Given the description of an element on the screen output the (x, y) to click on. 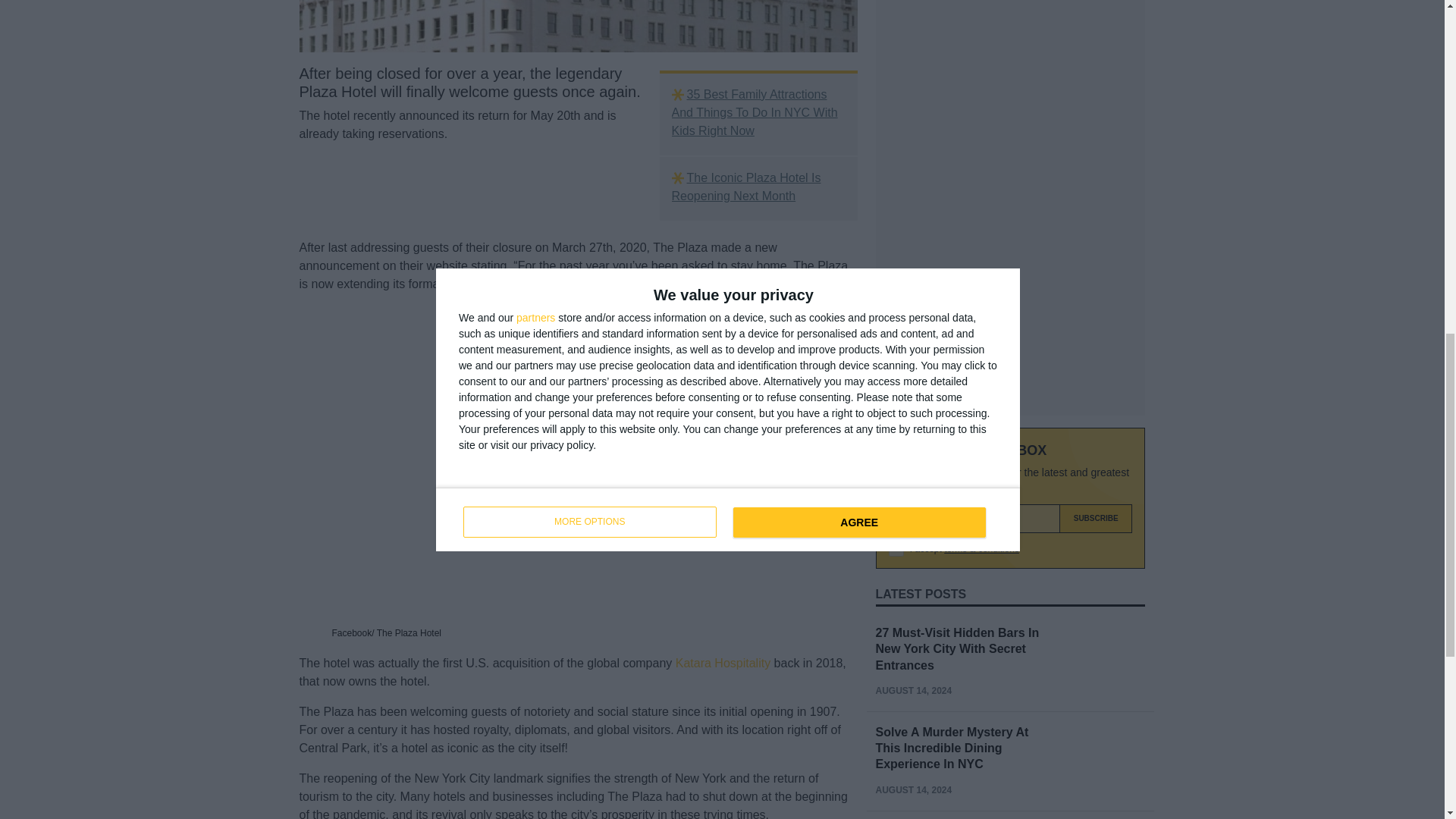
Katara Hospitality (722, 662)
1 (896, 304)
Subscribe (1095, 274)
Subscribe (1095, 274)
AUGUST 14, 2024 (913, 545)
The Iconic Plaza Hotel Is Reopening Next Month (758, 186)
AUGUST 14, 2024 (913, 446)
